Given the description of an element on the screen output the (x, y) to click on. 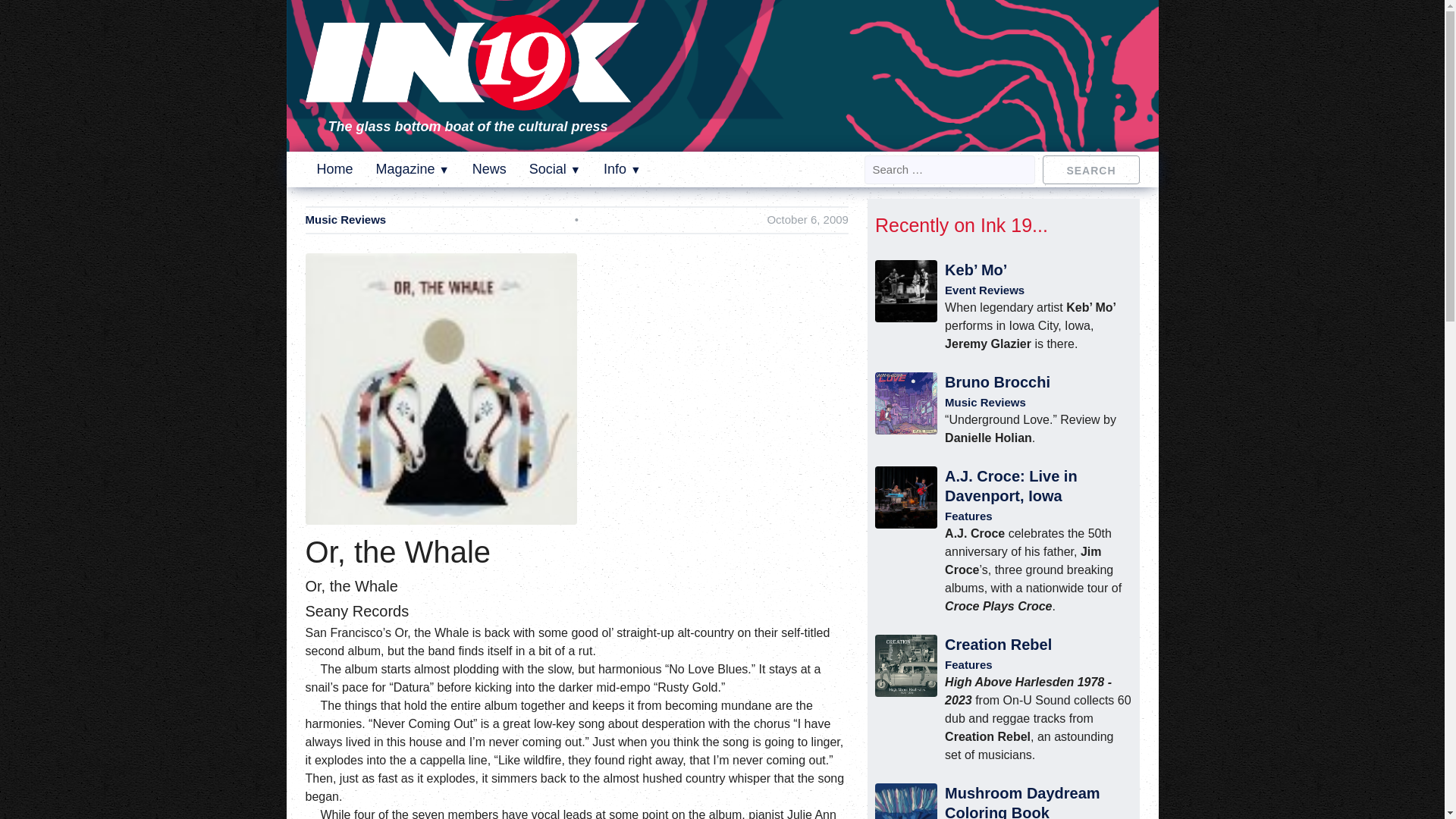
Social (554, 168)
Music Reviews (344, 220)
Search (1090, 168)
News (488, 168)
Info (622, 168)
Magazine (412, 168)
Home (335, 168)
Search (1090, 168)
Ink 19 (471, 100)
Search (1090, 168)
